Given the description of an element on the screen output the (x, y) to click on. 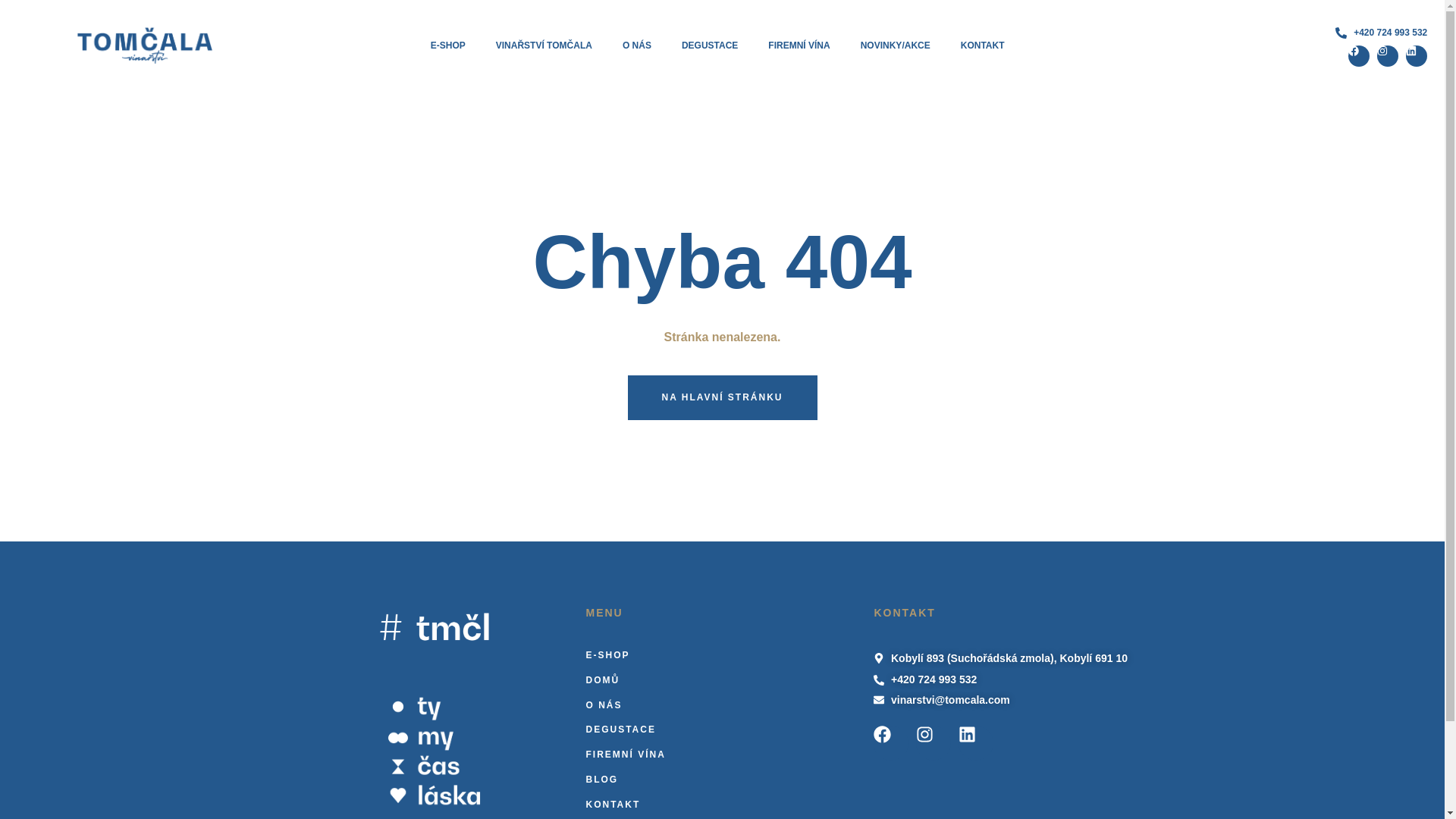
KONTAKT (722, 805)
BLOG (722, 779)
E-SHOP (447, 45)
E-SHOP (722, 655)
KONTAKT (982, 45)
DEGUSTACE (709, 45)
DEGUSTACE (722, 729)
